Given the description of an element on the screen output the (x, y) to click on. 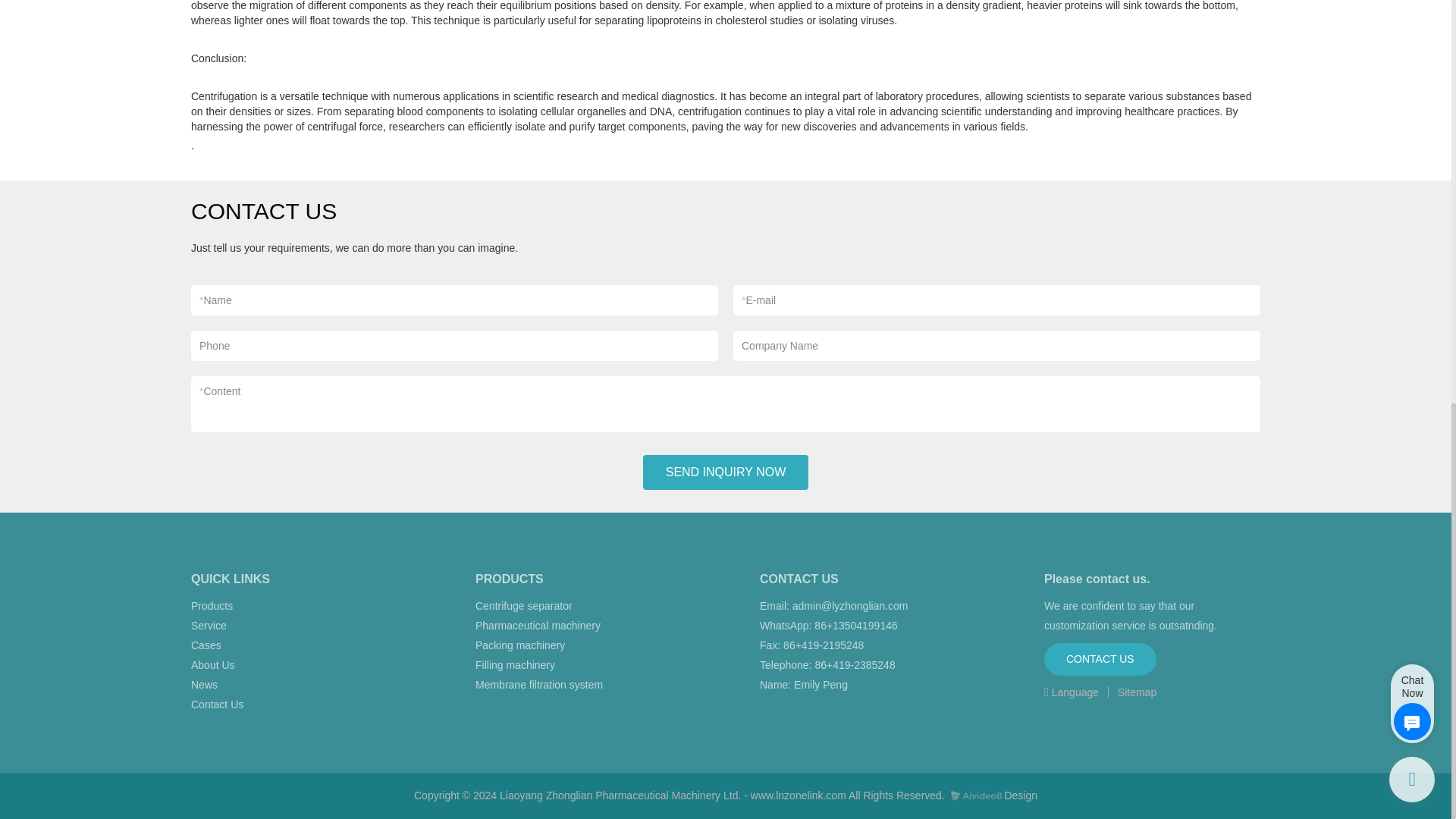
Service (208, 625)
SEND INQUIRY NOW (726, 472)
Products (211, 605)
